Given the description of an element on the screen output the (x, y) to click on. 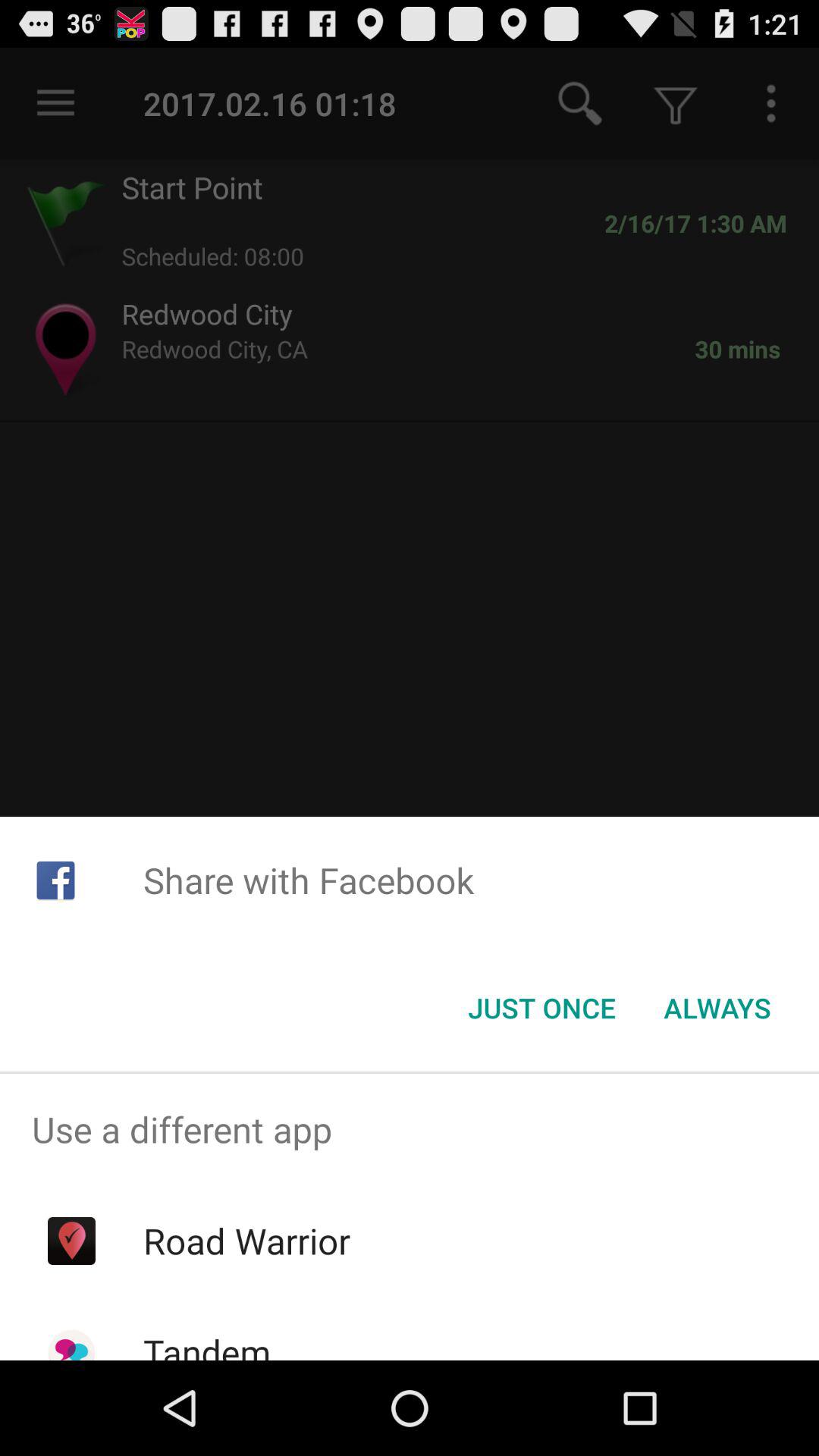
choose the just once item (541, 1007)
